Given the description of an element on the screen output the (x, y) to click on. 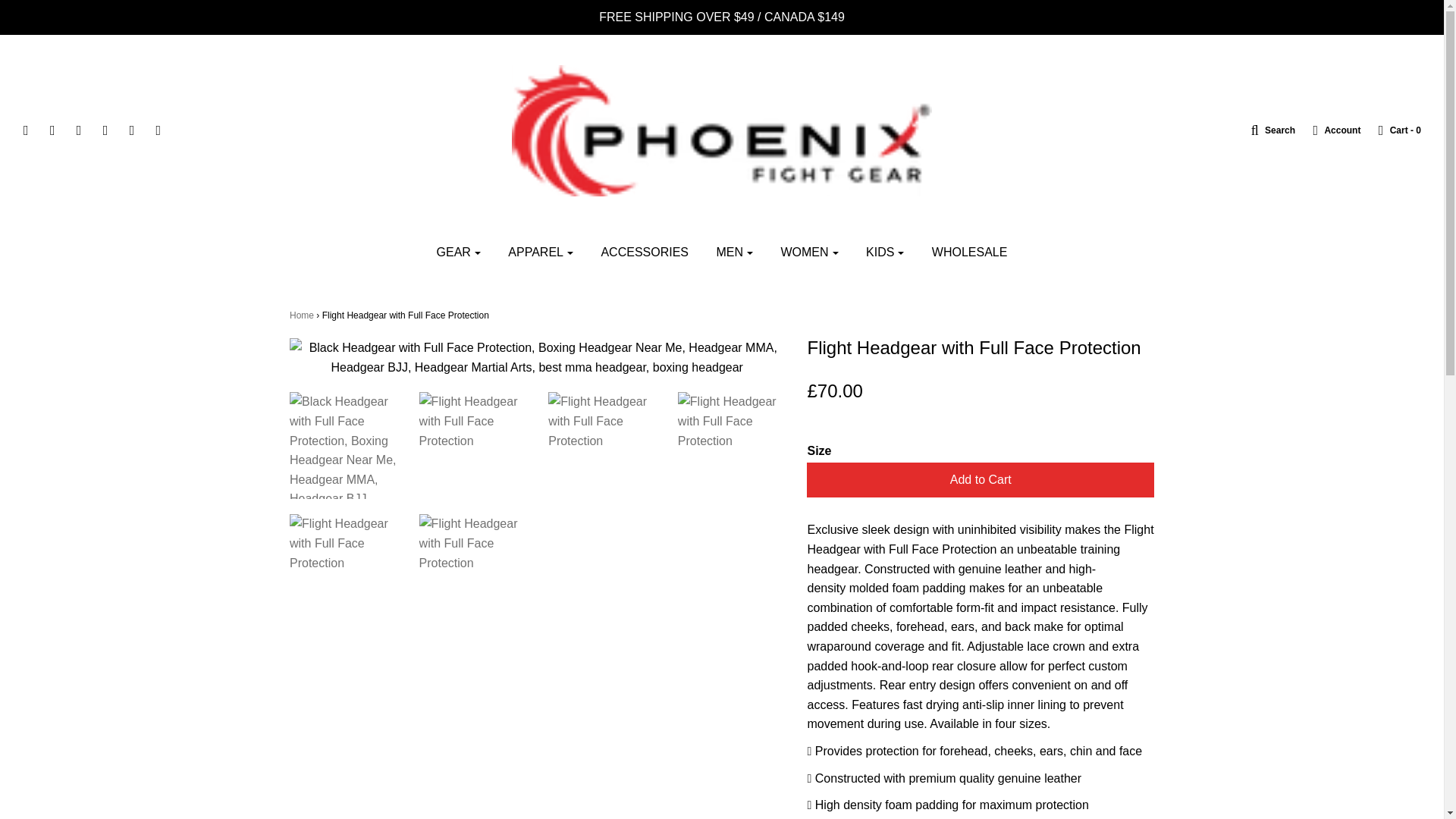
Back to the frontpage (301, 315)
Flight Headgear with Full Face Protection (472, 421)
Flight Headgear with Full Face Protection (342, 543)
Cart (1391, 130)
Log in (1328, 130)
Search (1265, 130)
Flight Headgear with Full Face Protection (601, 421)
Flight Headgear with Full Face Protection (731, 421)
Flight Headgear with Full Face Protection (472, 543)
